Given the description of an element on the screen output the (x, y) to click on. 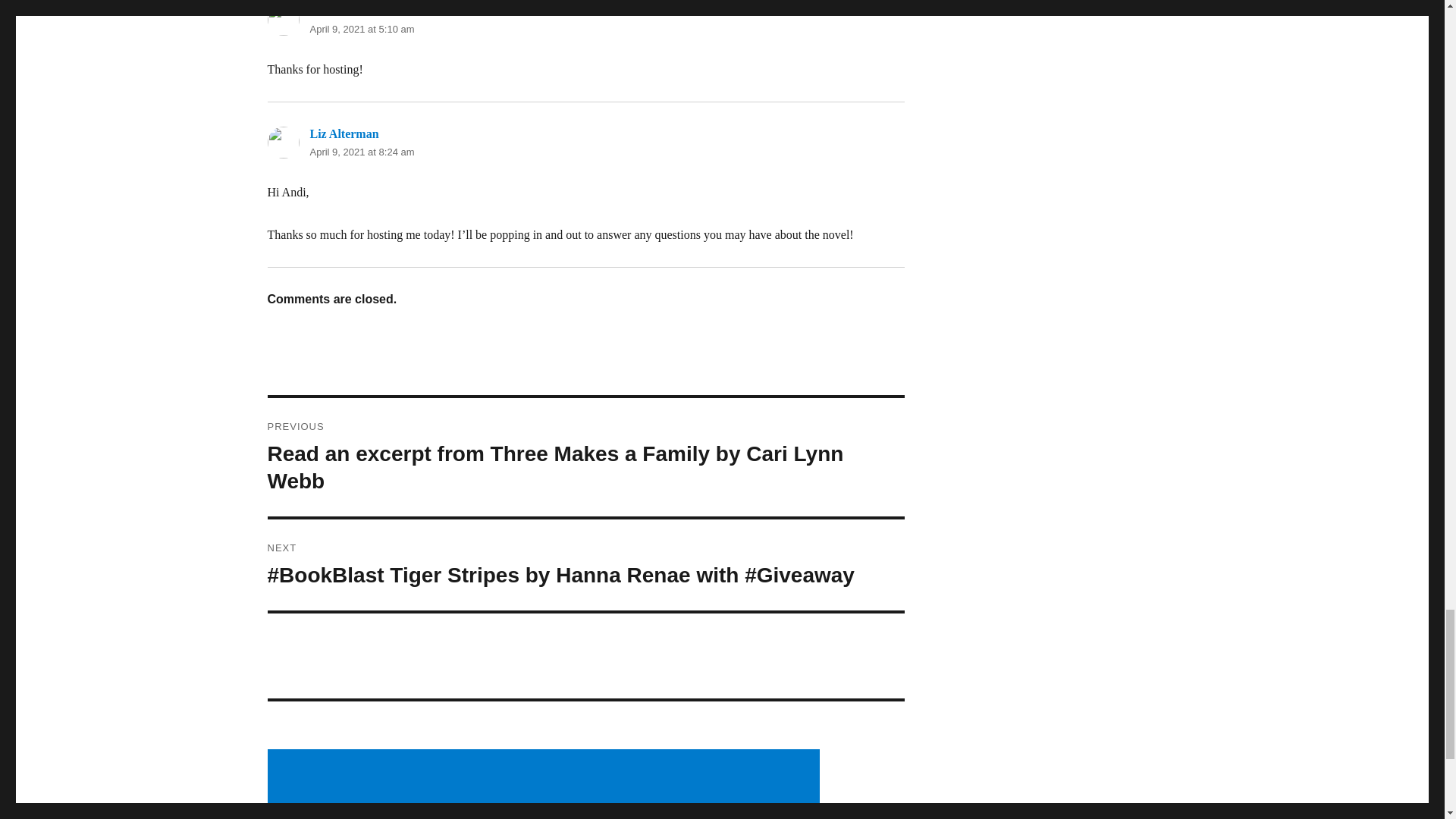
April 9, 2021 at 8:24 am (360, 152)
Goddess Fish Promotions (374, 10)
Liz Alterman (343, 133)
April 9, 2021 at 5:10 am (360, 29)
